Given the description of an element on the screen output the (x, y) to click on. 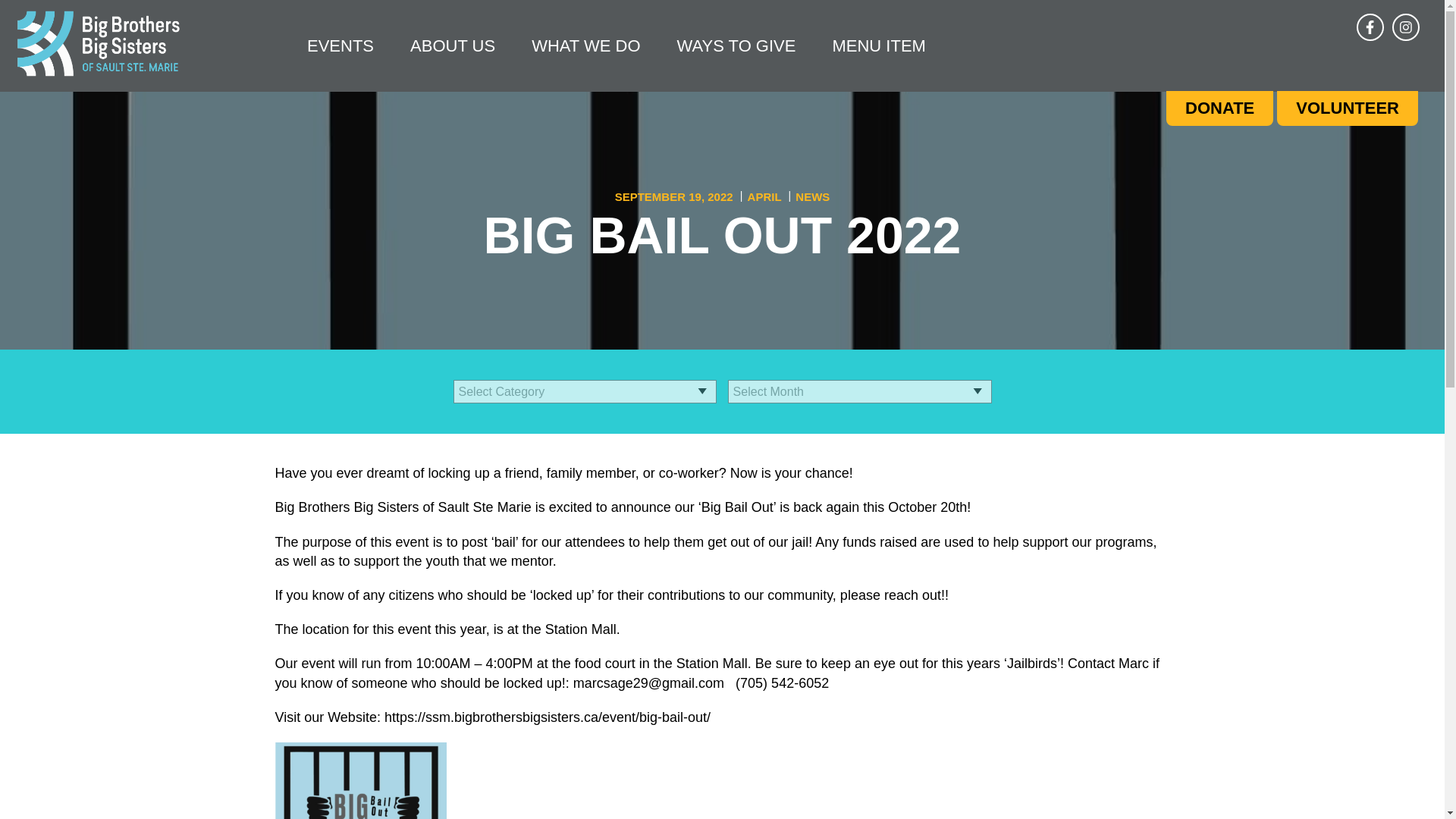
WHAT WE DO (585, 44)
ABOUT US (452, 44)
DONATE (1219, 108)
WAYS TO GIVE (736, 44)
EVENTS (340, 44)
MENU ITEM (878, 44)
VOLUNTEER (1347, 108)
SEPTEMBER 19, 2022 (675, 196)
